Given the description of an element on the screen output the (x, y) to click on. 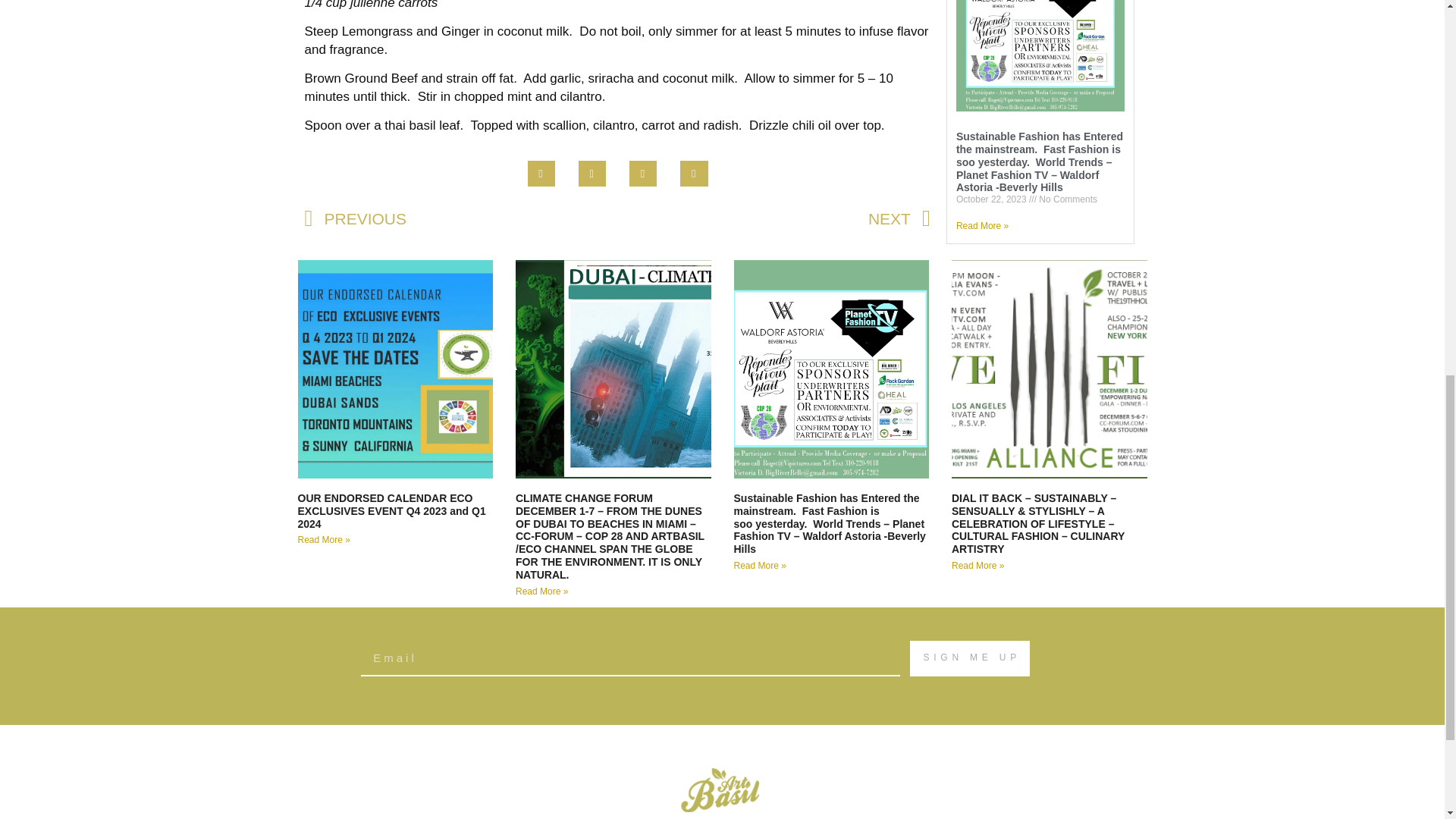
NEXT (773, 218)
PREVIOUS (460, 218)
SIGN ME UP (969, 658)
